Given the description of an element on the screen output the (x, y) to click on. 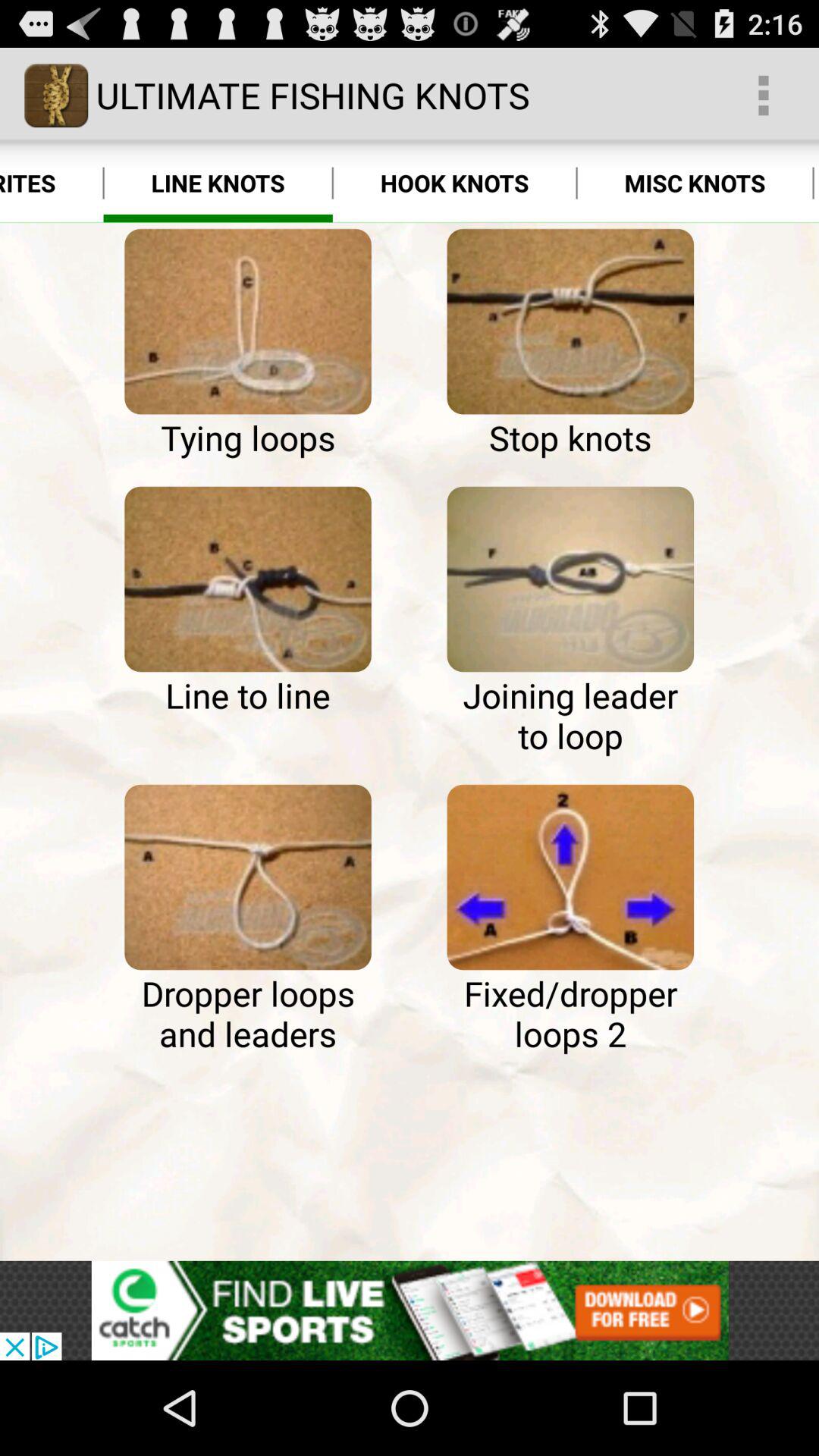
learn how to do line to line knots (247, 578)
